Given the description of an element on the screen output the (x, y) to click on. 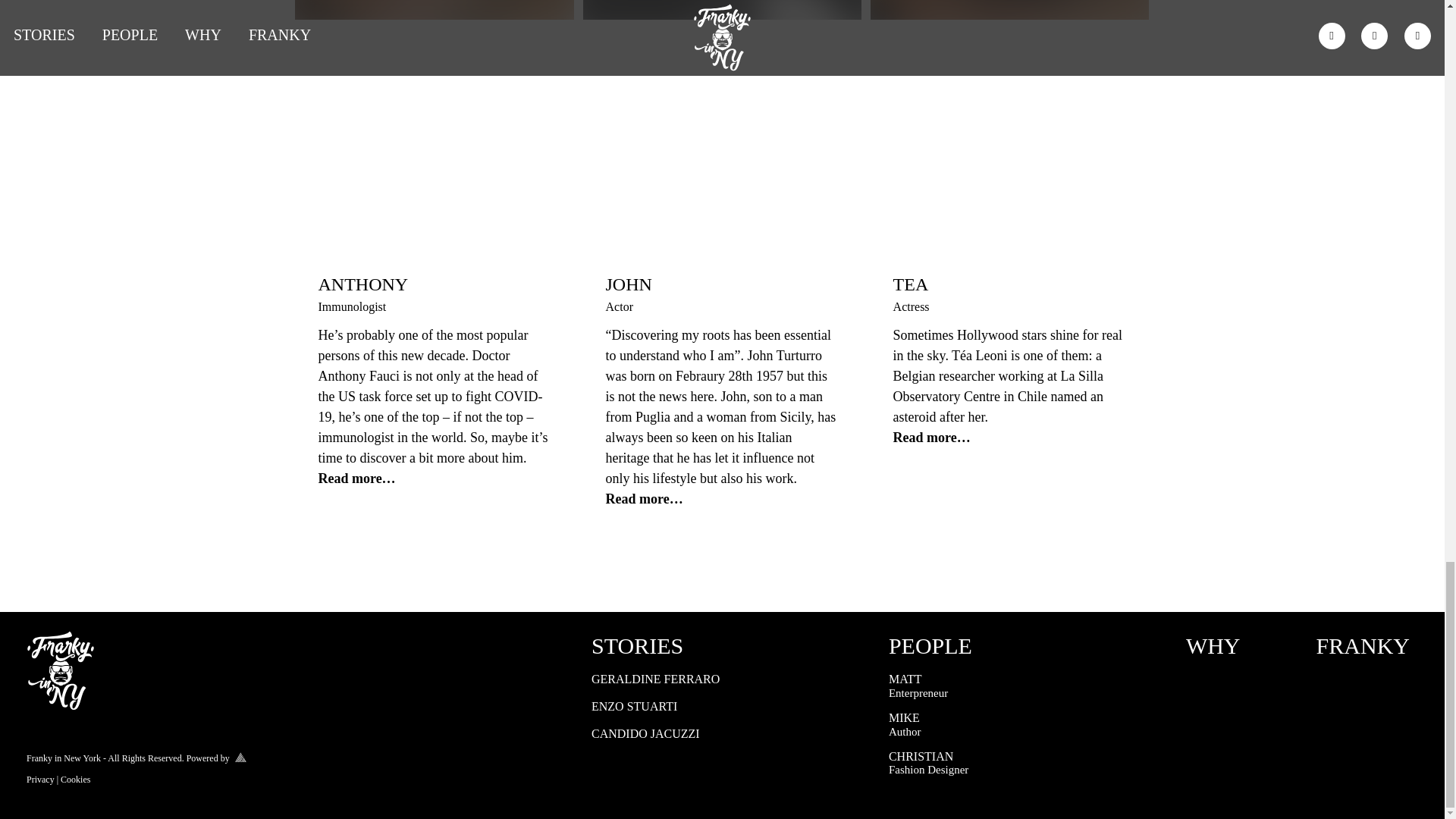
ENZO STUARTI (720, 706)
Franky in New York (63, 757)
CANDIDO JACUZZI (720, 734)
FRANKY (1017, 723)
PEOPLE (1362, 645)
WHY (1017, 645)
Artchivio (1232, 645)
Privacy (237, 756)
